Given the description of an element on the screen output the (x, y) to click on. 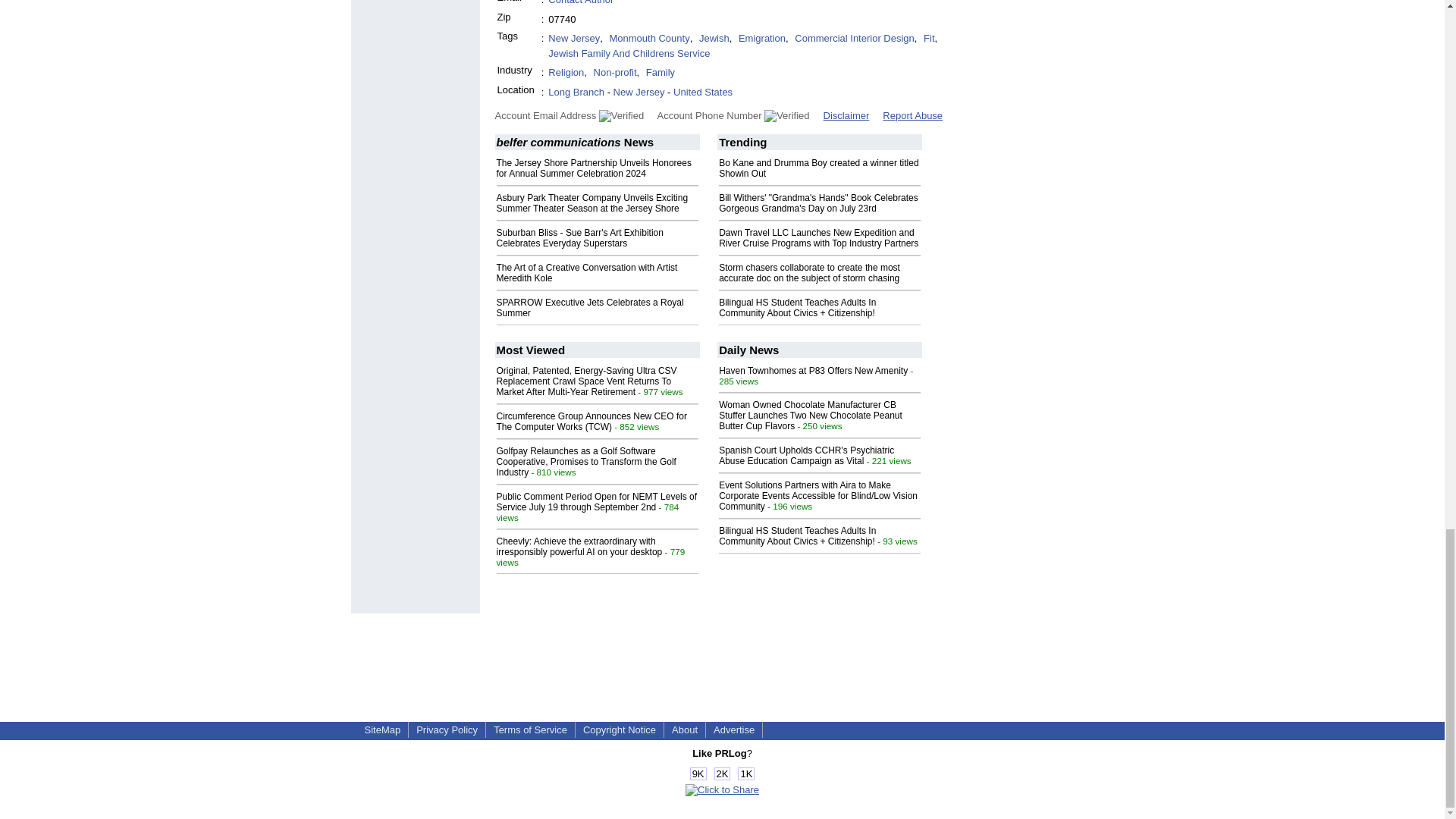
Share this page! (721, 789)
Verified (786, 115)
Verified (620, 115)
